Given the description of an element on the screen output the (x, y) to click on. 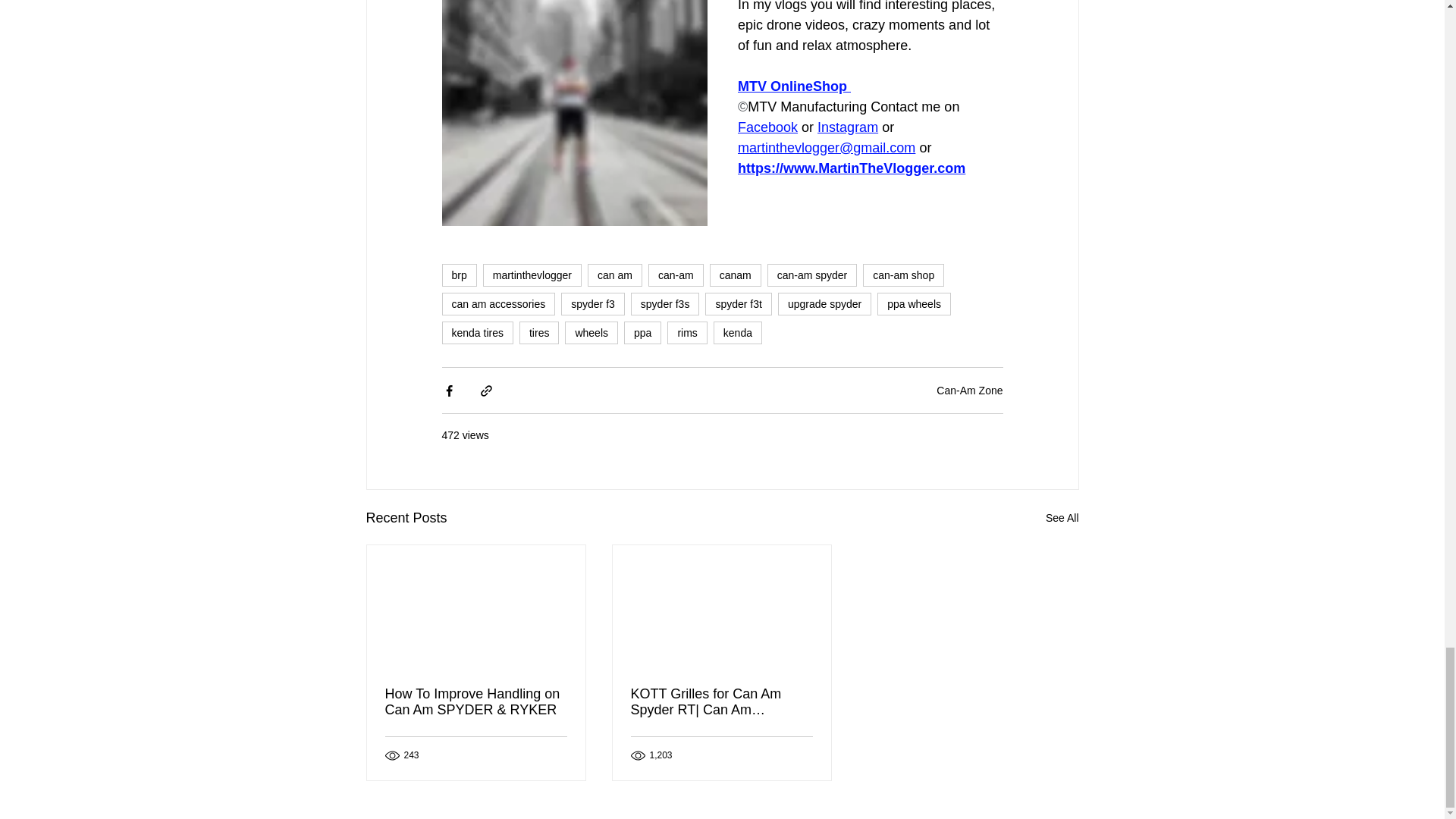
martinthevlogger (531, 274)
MTV OnlineShop (790, 86)
can am (615, 274)
Instagram (846, 127)
brp (458, 274)
Facebook (766, 127)
